Given the description of an element on the screen output the (x, y) to click on. 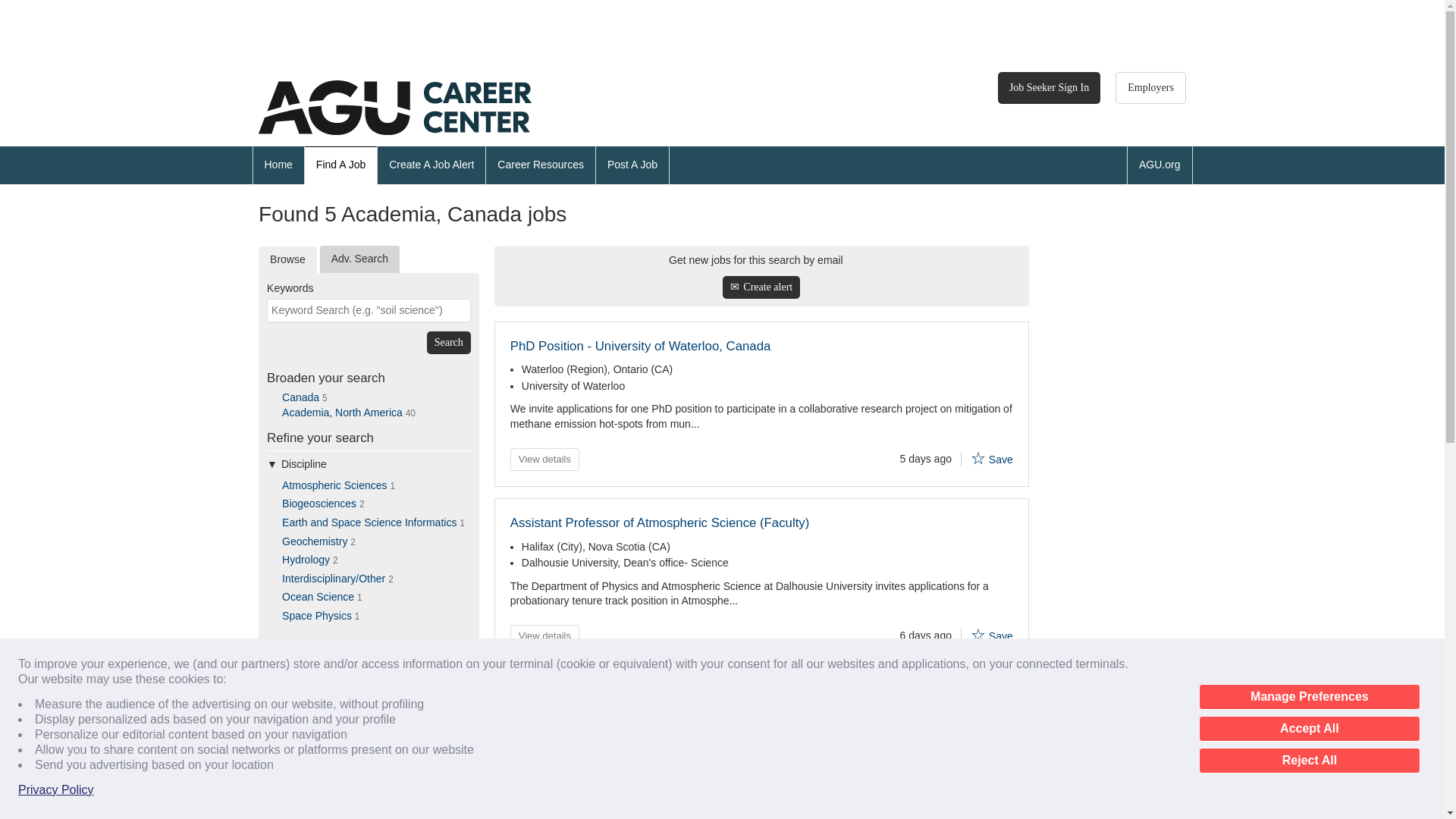
Career Resources (540, 165)
Atmospheric Sciences (334, 485)
Search (448, 342)
Academia, North America (342, 412)
Ocean Science (317, 596)
Discipline (368, 464)
Manage Preferences (1309, 696)
Add to shortlist (978, 634)
Reject All (1309, 760)
Browse (288, 259)
Create A Job Alert (430, 165)
Home (276, 165)
Post A Job (631, 165)
Space Physics (317, 615)
Earth and Space Science Informatics (369, 522)
